Given the description of an element on the screen output the (x, y) to click on. 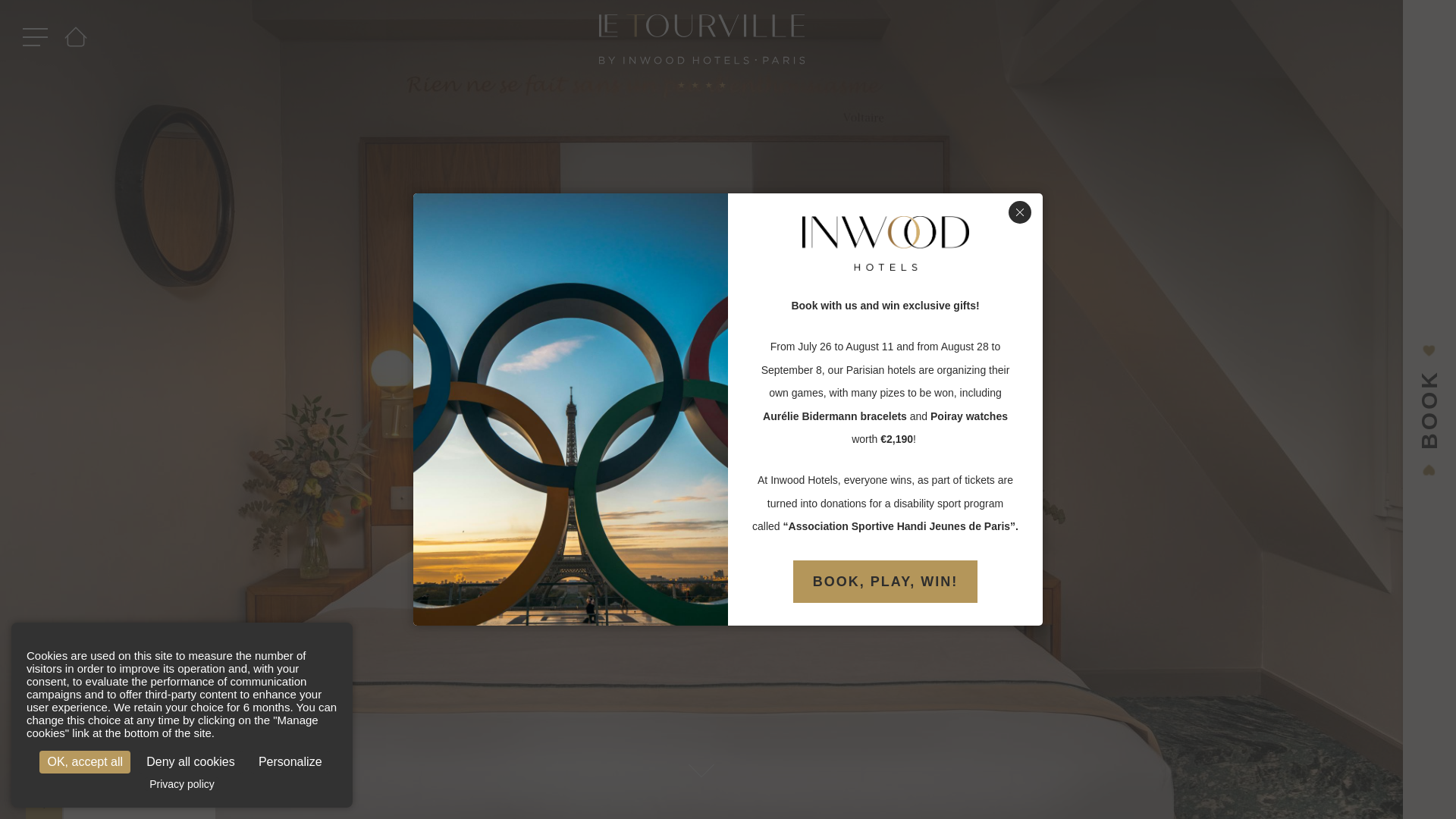
Close (1019, 211)
GET IN TOUCH (139, 801)
BOOK, PLAY, WIN! (884, 581)
